Given the description of an element on the screen output the (x, y) to click on. 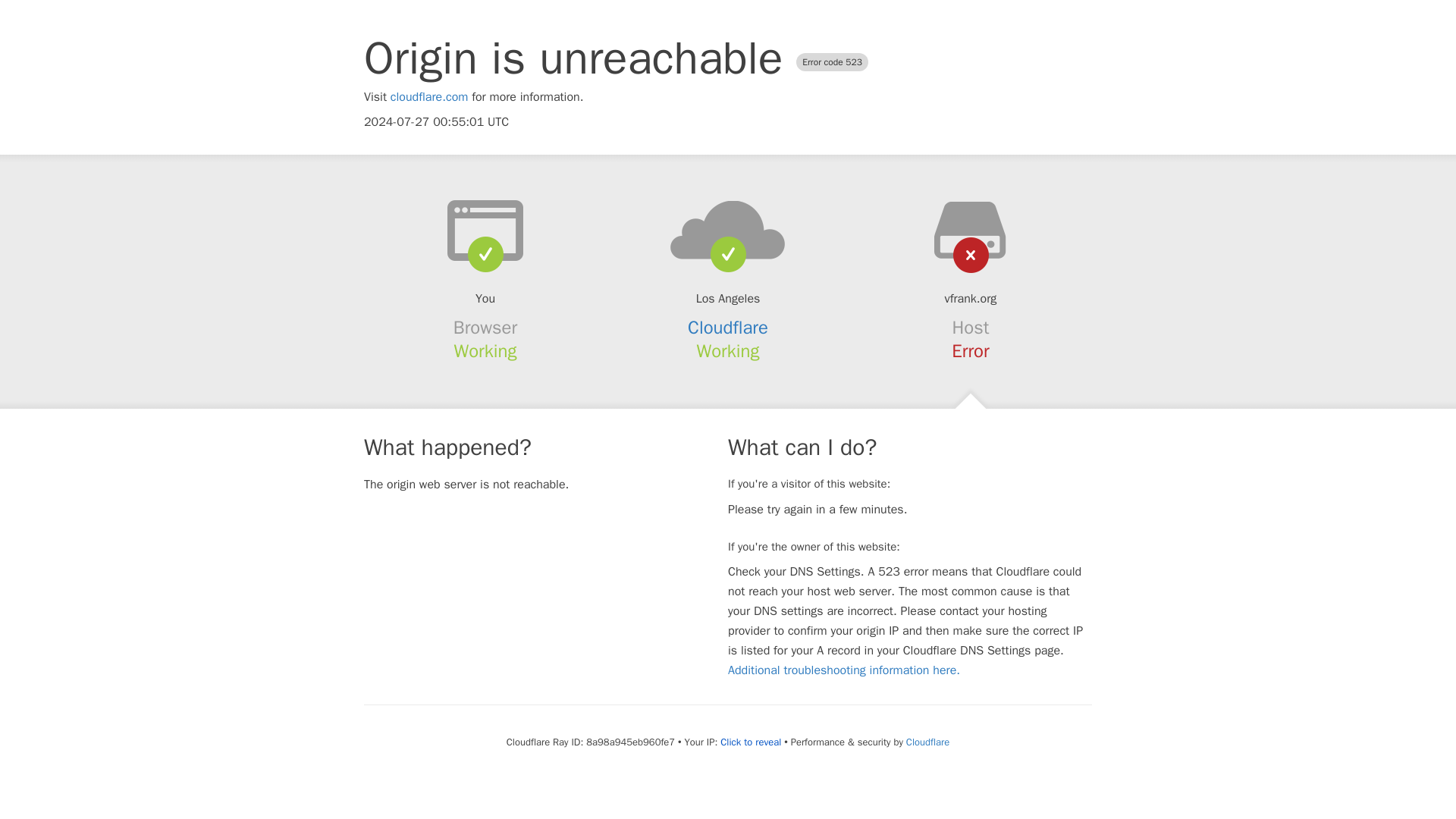
Click to reveal (750, 742)
cloudflare.com (429, 96)
Cloudflare (927, 741)
Cloudflare (727, 327)
Additional troubleshooting information here. (843, 670)
